Given the description of an element on the screen output the (x, y) to click on. 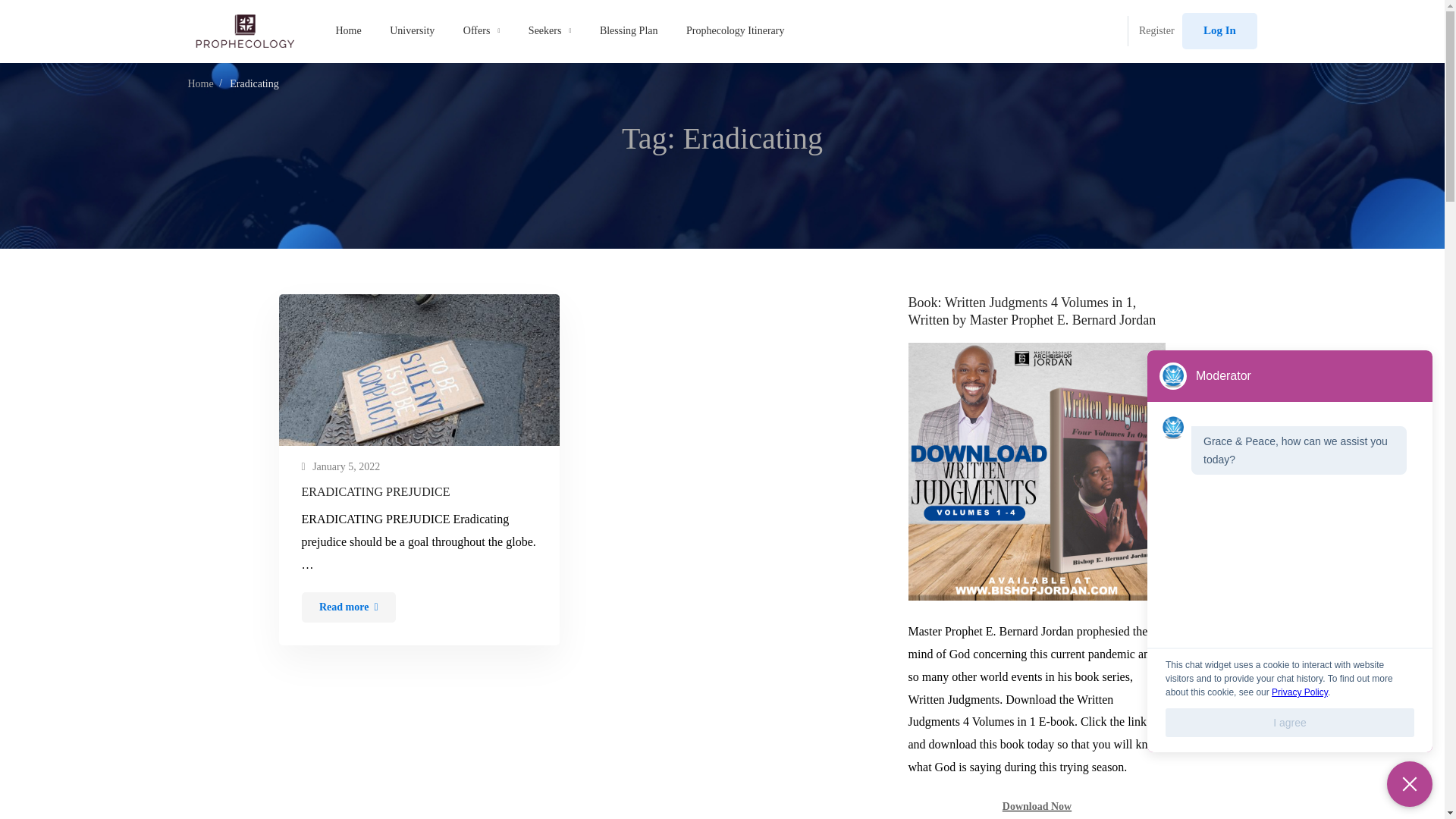
Prophecology Itinerary (734, 30)
Offers (481, 30)
Log In (1219, 31)
University (411, 30)
Read more (348, 607)
Home (200, 83)
ERADICATING PREJUDICE (419, 491)
Download Now (1037, 806)
Blessing Plan (628, 30)
Seekers (550, 30)
Register (1156, 30)
